Given the description of an element on the screen output the (x, y) to click on. 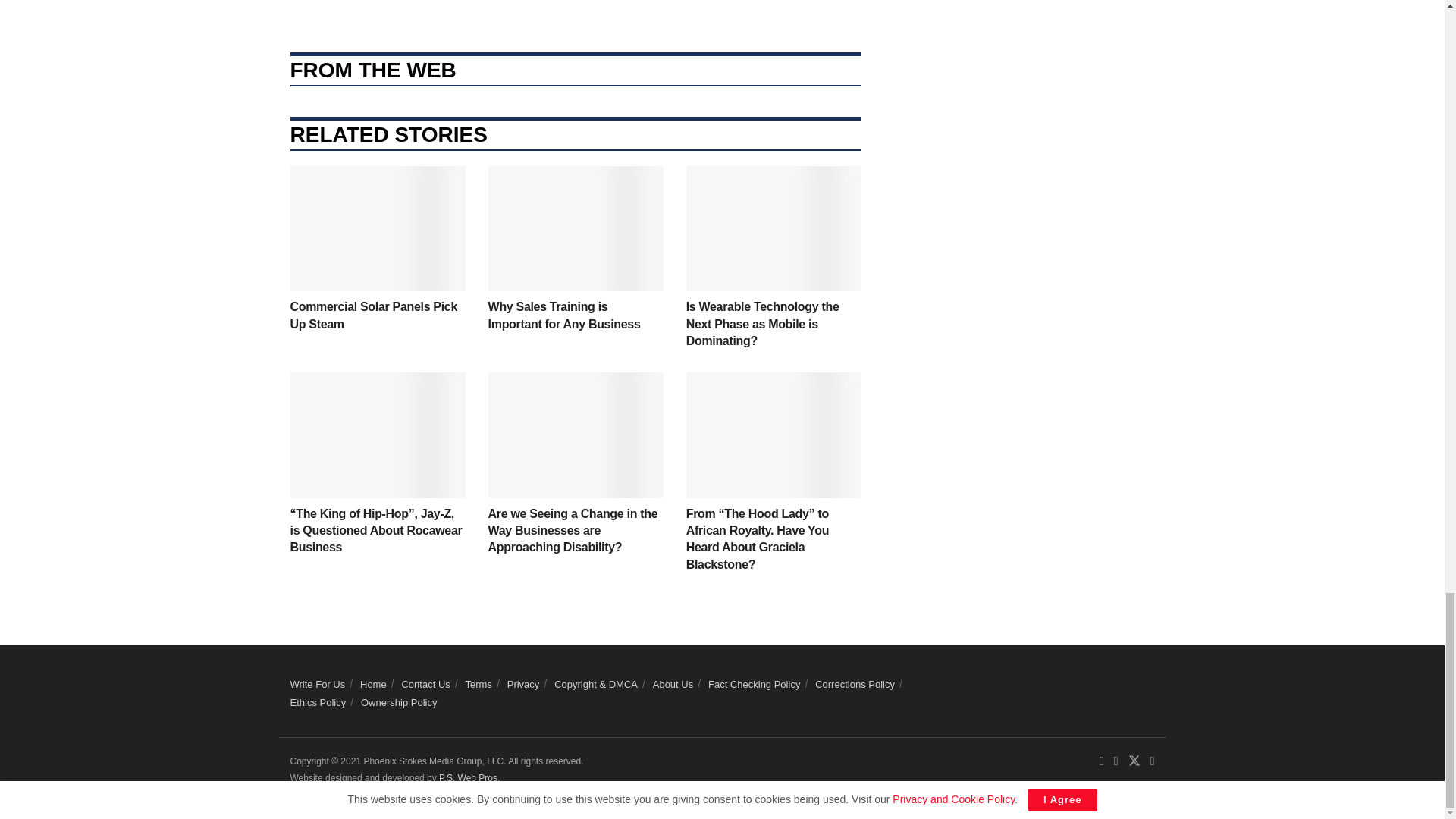
Commercial Solar Panels Pick Up Steam (373, 315)
